Given the description of an element on the screen output the (x, y) to click on. 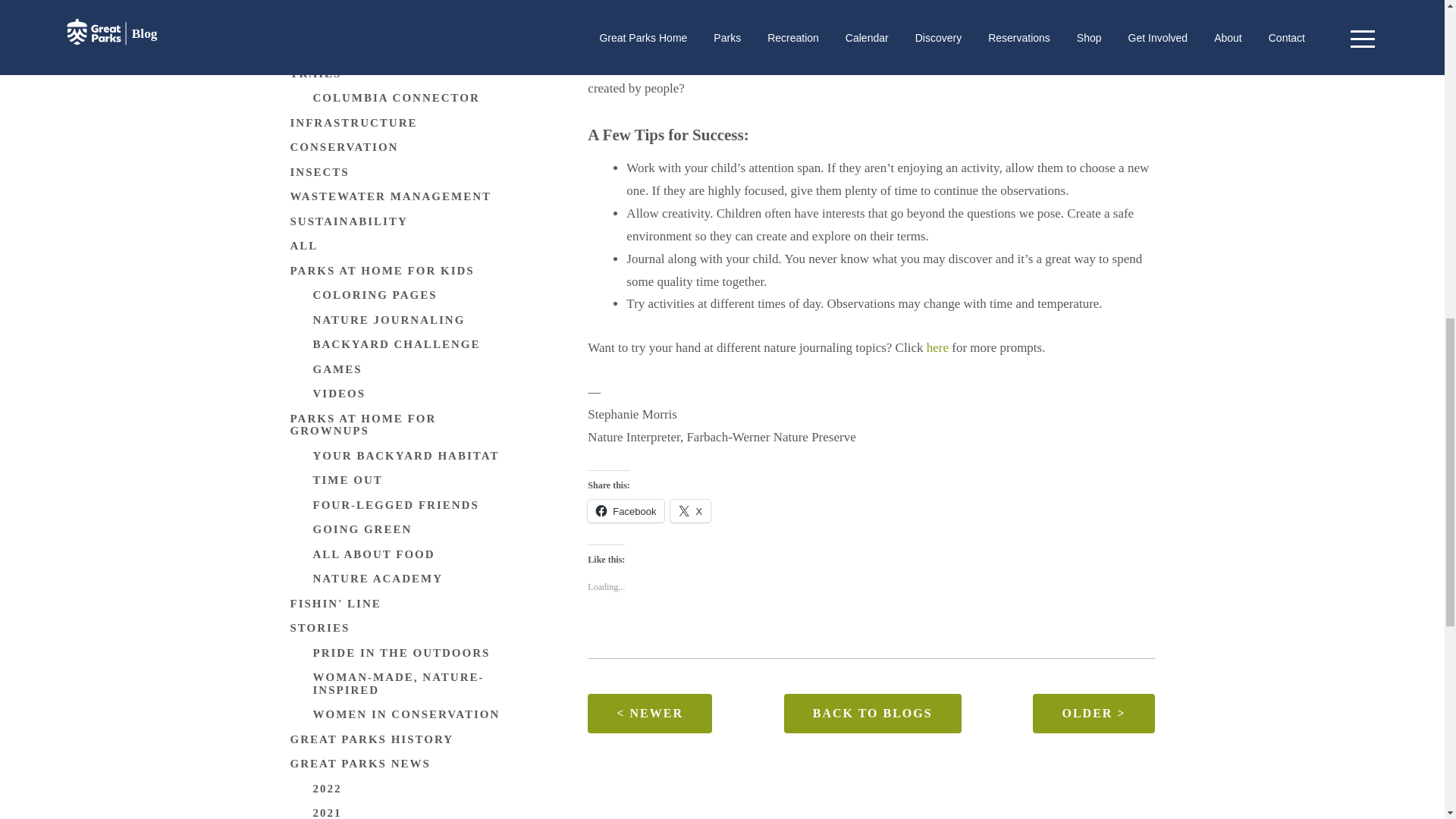
Facebook (625, 510)
here (939, 347)
Click to share on Facebook (625, 510)
X (689, 510)
Click to share on X (689, 510)
BACK TO BLOGS (872, 712)
Like or Reblog (871, 636)
